Given the description of an element on the screen output the (x, y) to click on. 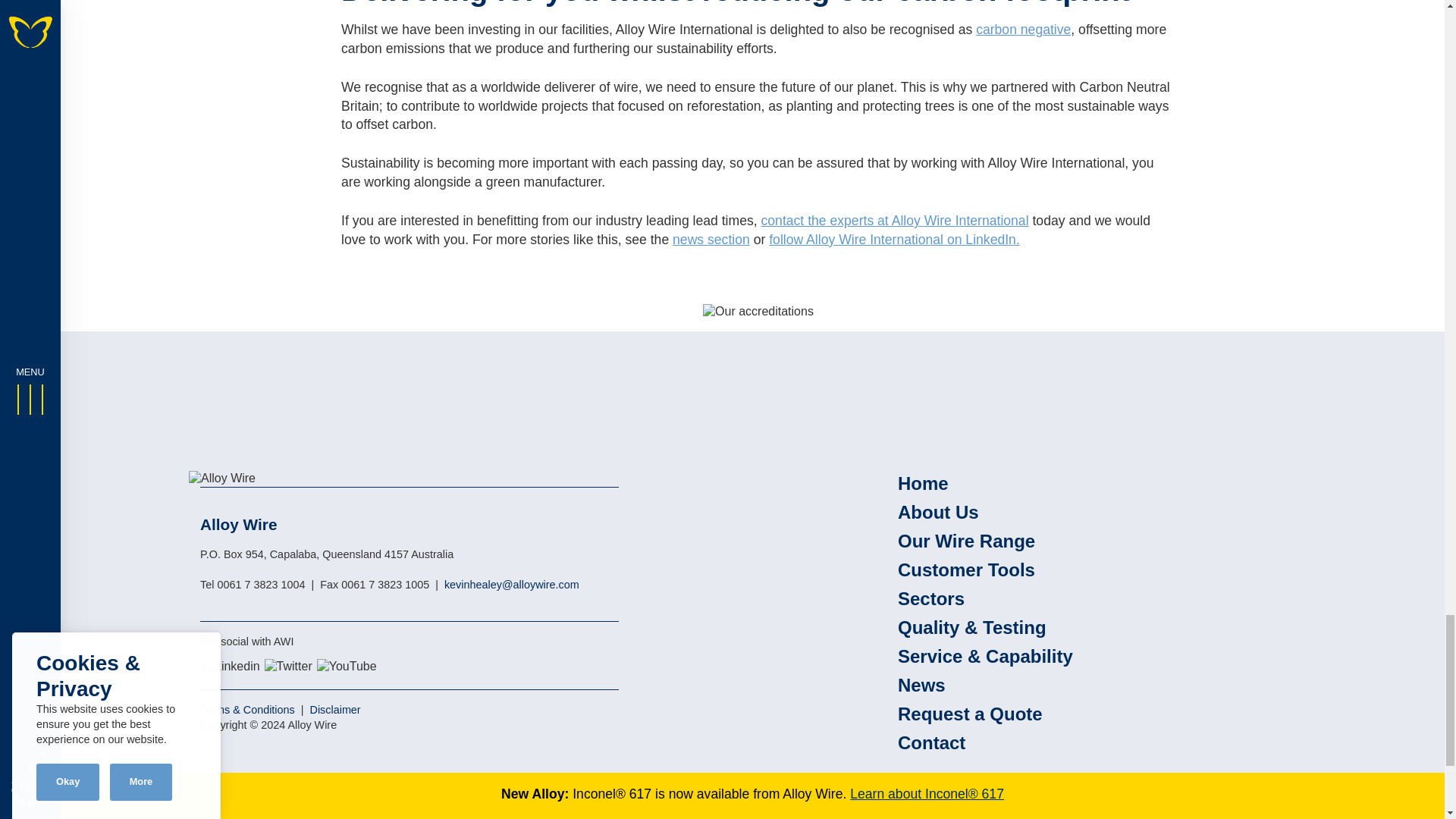
Twitter (288, 666)
YouTube (347, 666)
Linkedin (231, 666)
